Given the description of an element on the screen output the (x, y) to click on. 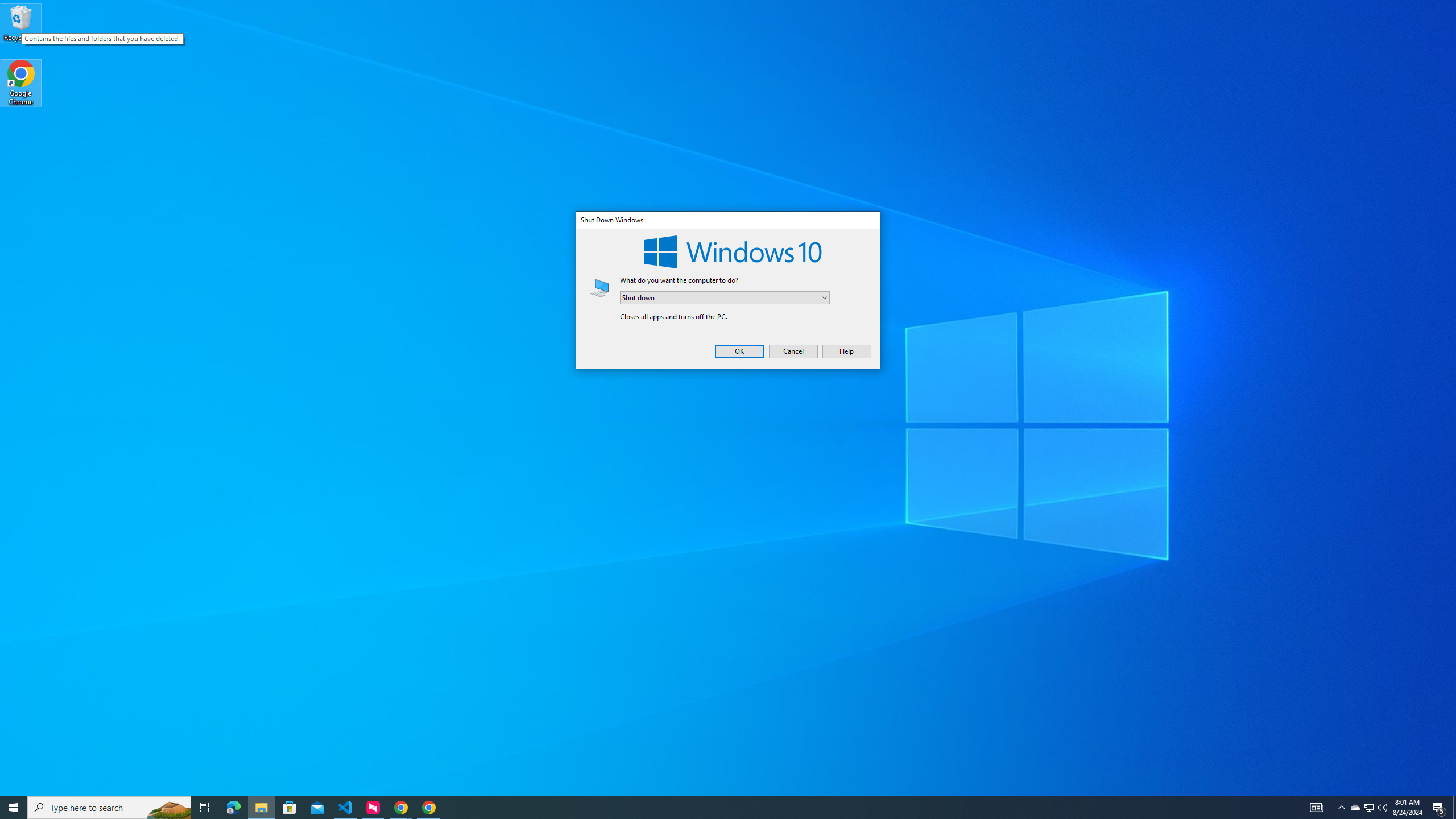
Visual Studio Code - 1 running window (1368, 807)
AutomationID: 4105 (345, 807)
Task View (1316, 807)
Q2790: 100% (204, 807)
Action Center, 5 new notifications (1382, 807)
Running applications (1439, 807)
Show desktop (717, 807)
Google Chrome - 3 running windows (1454, 807)
Open (400, 807)
What do you want the computer to do? (825, 297)
File Explorer - 1 running window (724, 297)
